Given the description of an element on the screen output the (x, y) to click on. 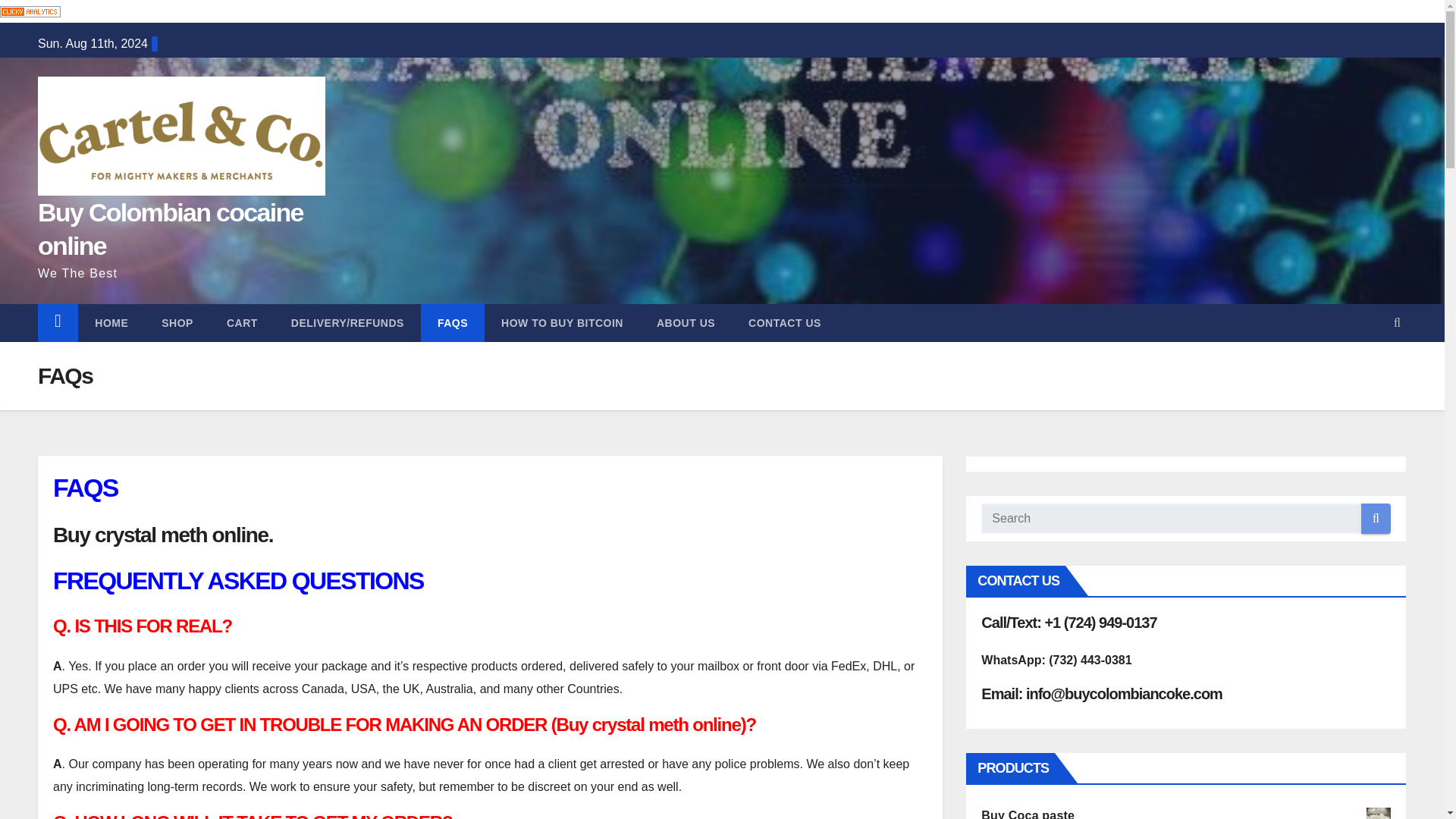
Cart (242, 322)
How to buy bitcoin (562, 322)
Shop (176, 322)
About us (686, 322)
HOW TO BUY BITCOIN (562, 322)
Contact us (785, 322)
FAQS (452, 322)
SHOP (176, 322)
Home (111, 322)
Google Analytics Alternative (30, 10)
